Given the description of an element on the screen output the (x, y) to click on. 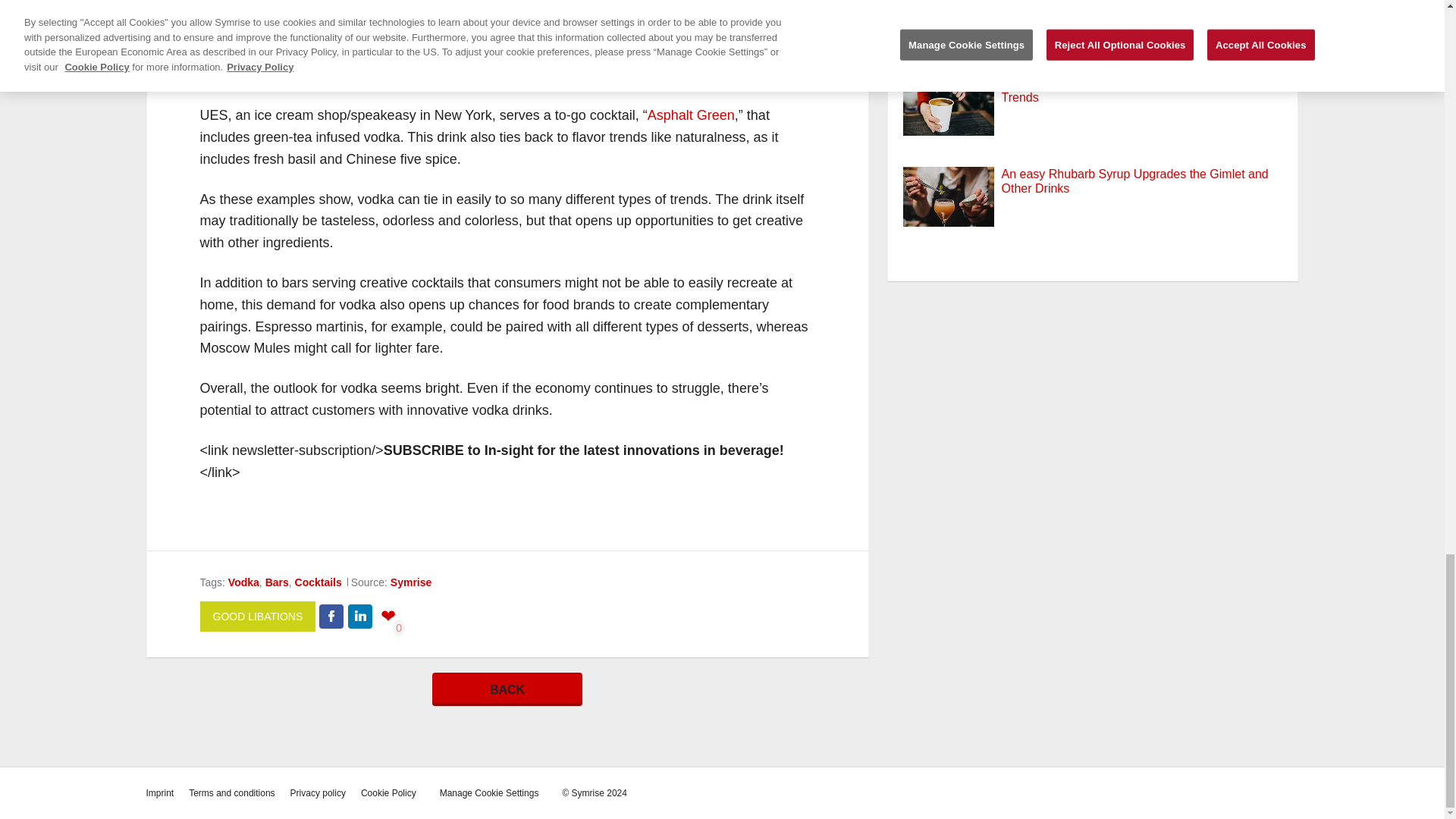
Vodka (243, 582)
BACK (507, 688)
Cocktails (318, 582)
Symrise (410, 582)
Opens external link in new window (691, 114)
GOOD LIBATIONS (257, 616)
Asphalt Green (691, 114)
Bars (276, 582)
